Given the description of an element on the screen output the (x, y) to click on. 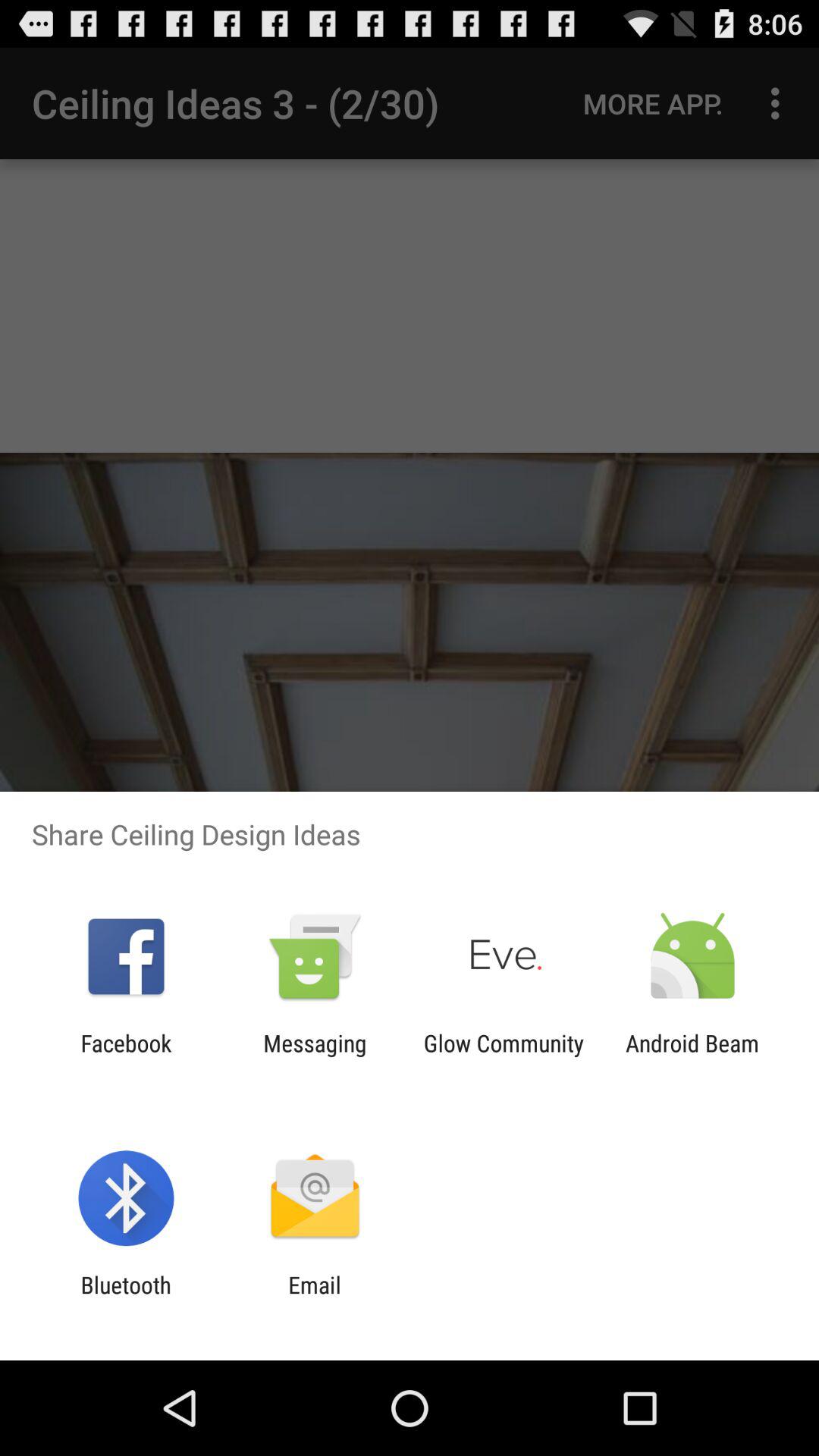
tap the item next to the bluetooth icon (314, 1298)
